Given the description of an element on the screen output the (x, y) to click on. 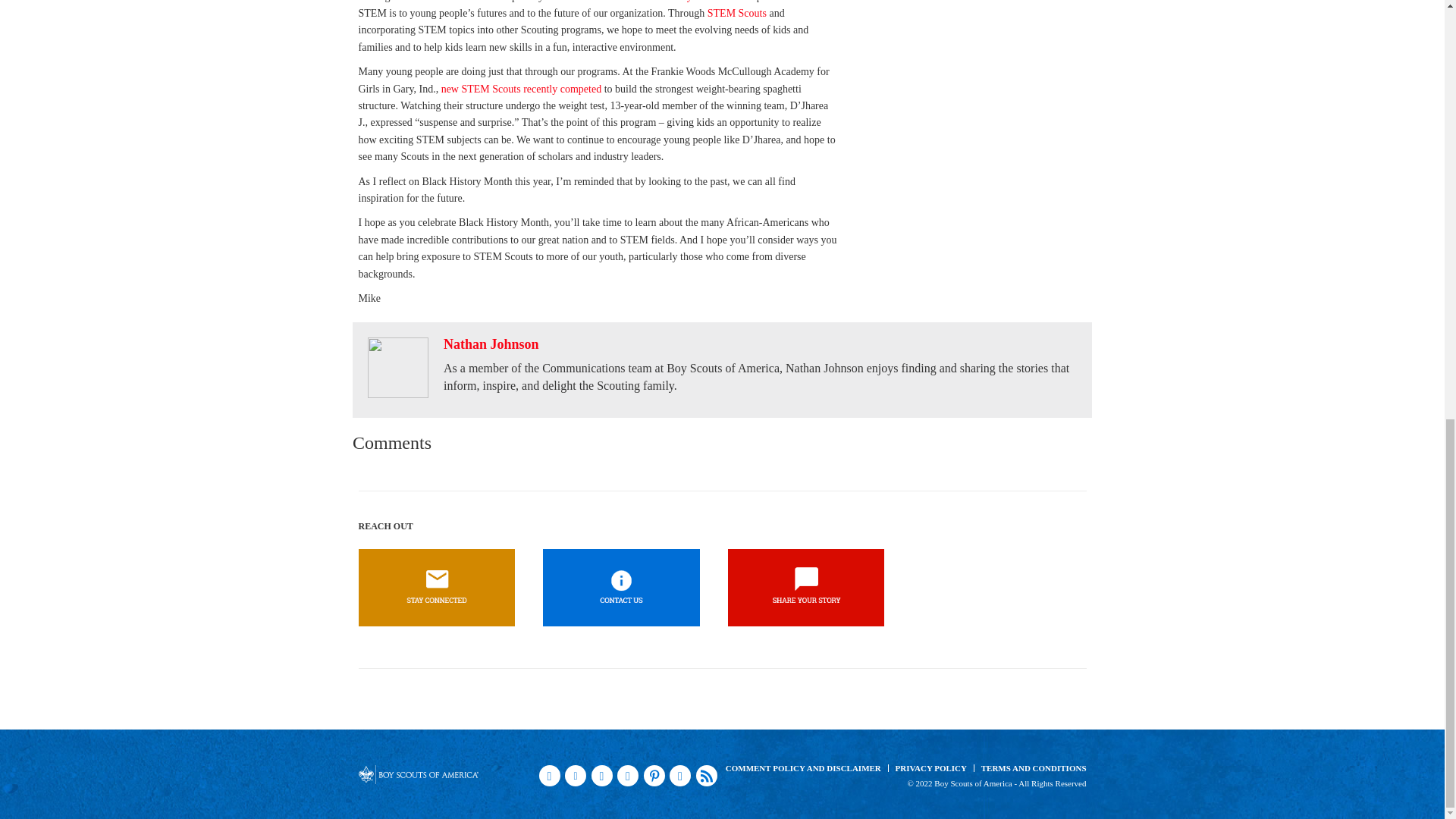
Flickr (679, 775)
Pinterest (653, 775)
Facebook (548, 775)
X (575, 775)
Youtube (601, 775)
heard me say before (679, 1)
RSS (706, 775)
new STEM Scouts recently competed (521, 89)
STEM Scouts (737, 12)
Instagram (628, 775)
